Given the description of an element on the screen output the (x, y) to click on. 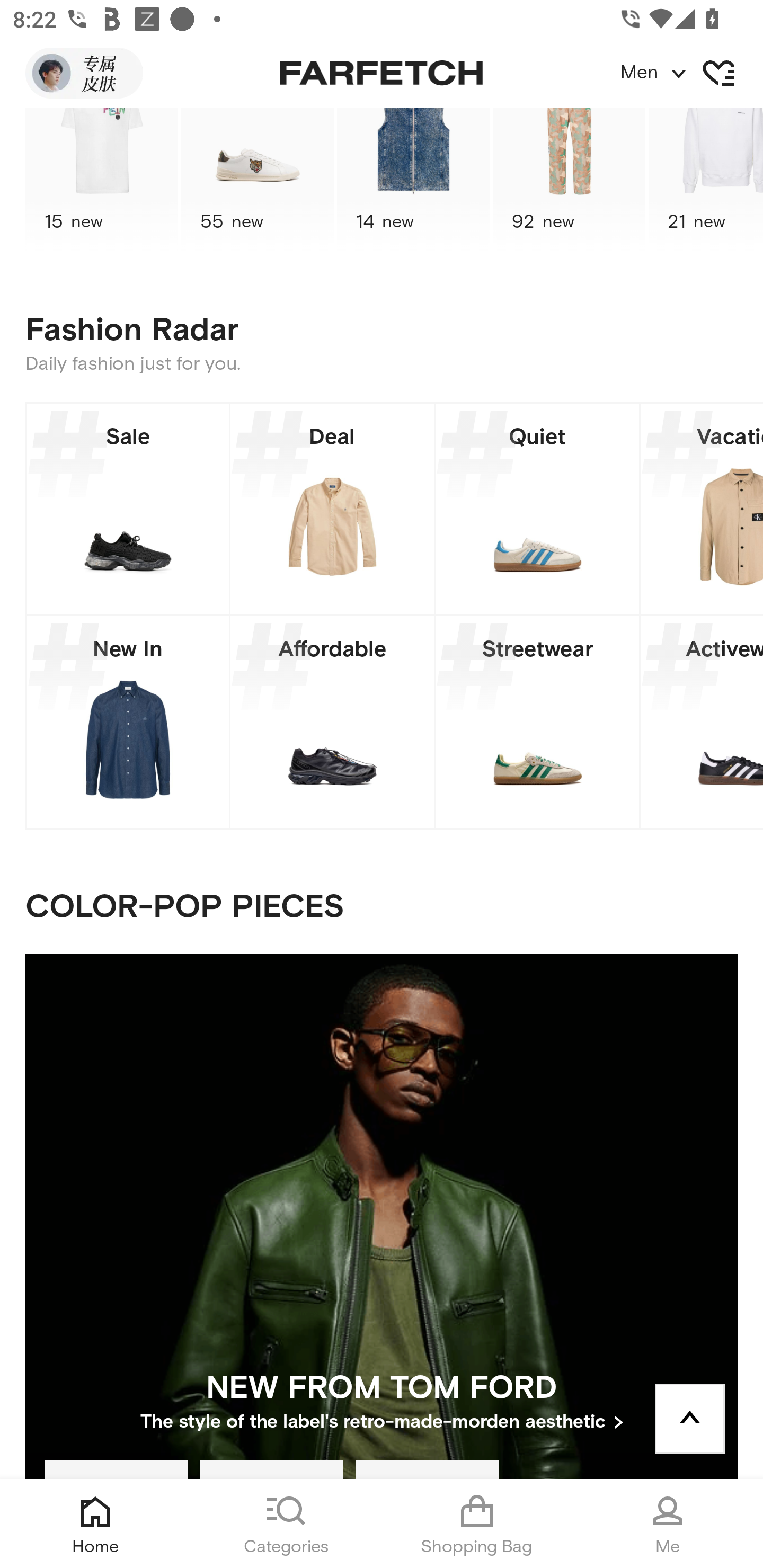
Men (691, 72)
Philipp Plein 15  new (101, 180)
Polo Ralph Lauren 55  new (257, 180)
Diesel 14  new (413, 180)
Acne Studios 92  new (568, 180)
Stone Island 21  new (705, 180)
Sale (127, 508)
Deal (332, 508)
Quiet (537, 508)
Vacation (701, 508)
New In (127, 721)
Affordable (332, 721)
Streetwear (537, 721)
Activewear (701, 721)
Categories (285, 1523)
Shopping Bag (476, 1523)
Me (667, 1523)
